Given the description of an element on the screen output the (x, y) to click on. 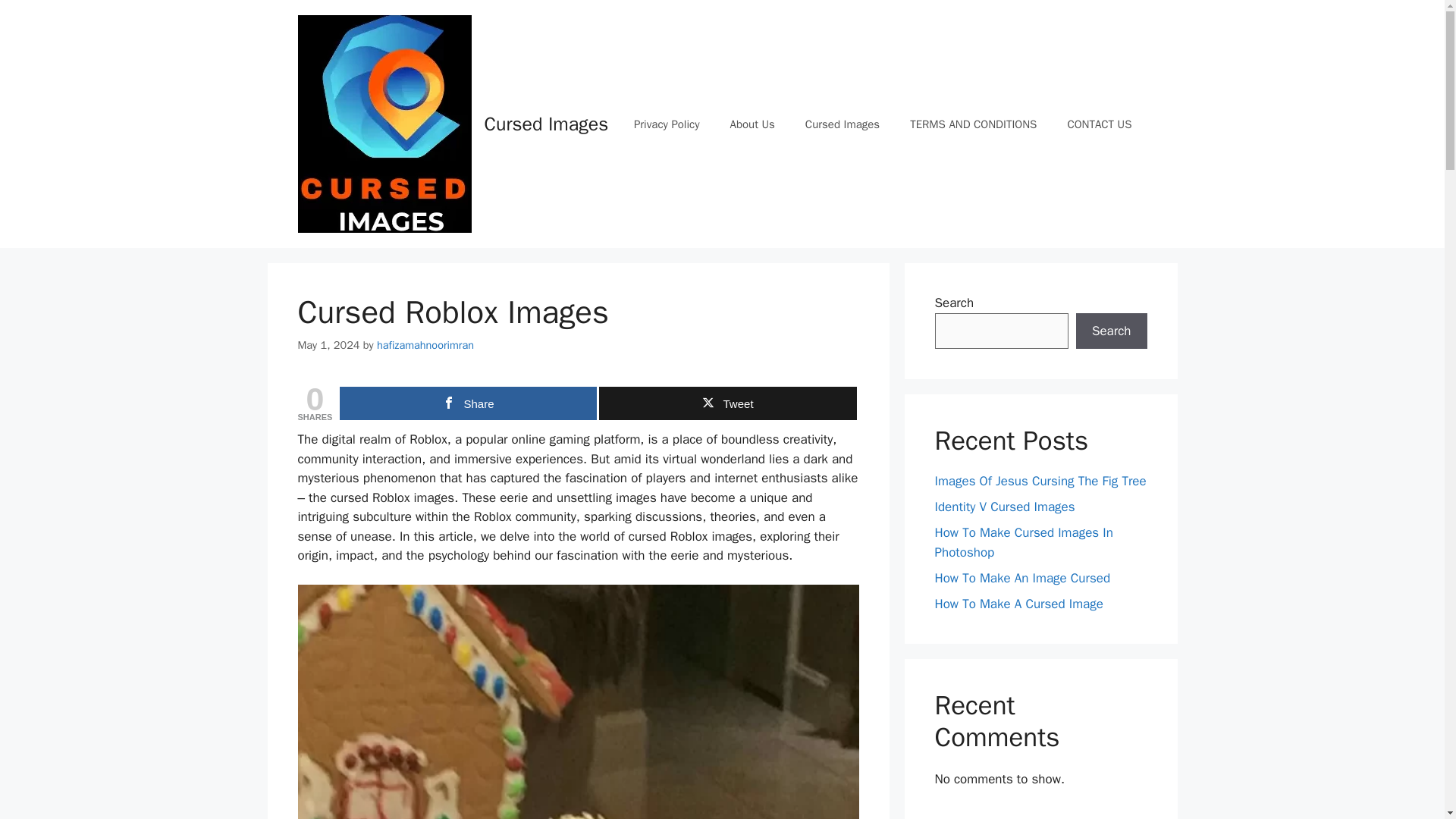
TERMS AND CONDITIONS (973, 124)
CONTACT US (1099, 124)
Images Of Jesus Cursing The Fig Tree (1039, 480)
View all posts by hafizamahnoorimran (425, 345)
Search (1111, 330)
Cursed Images (842, 124)
How To Make A Cursed Image (1018, 603)
How To Make An Image Cursed (1021, 578)
How To Make Cursed Images In Photoshop (1023, 542)
Identity V Cursed Images (1004, 506)
Share (467, 403)
hafizamahnoorimran (425, 345)
About Us (752, 124)
Privacy Policy (666, 124)
Tweet (727, 403)
